Given the description of an element on the screen output the (x, y) to click on. 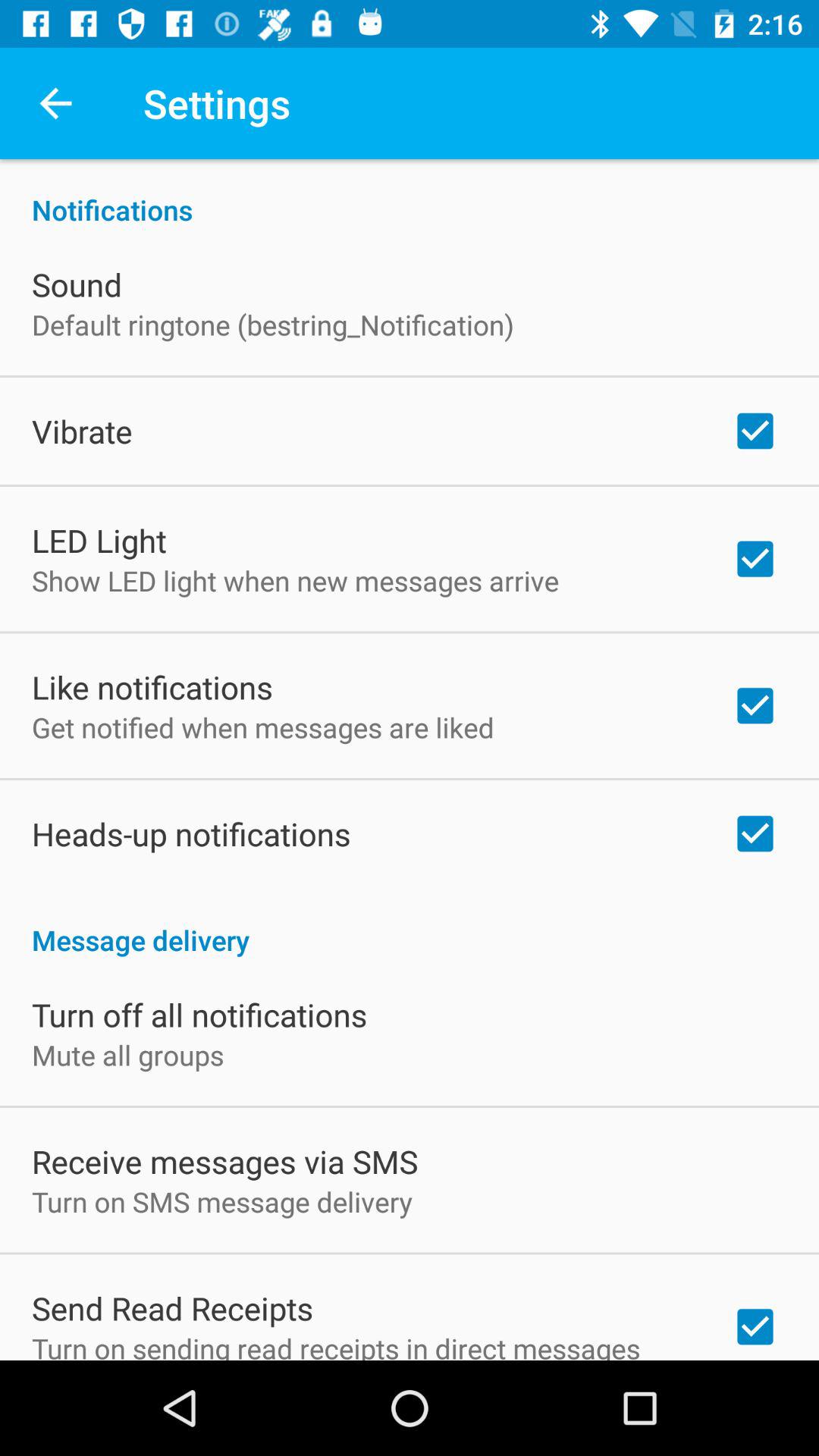
choose the mute all groups item (127, 1054)
